Given the description of an element on the screen output the (x, y) to click on. 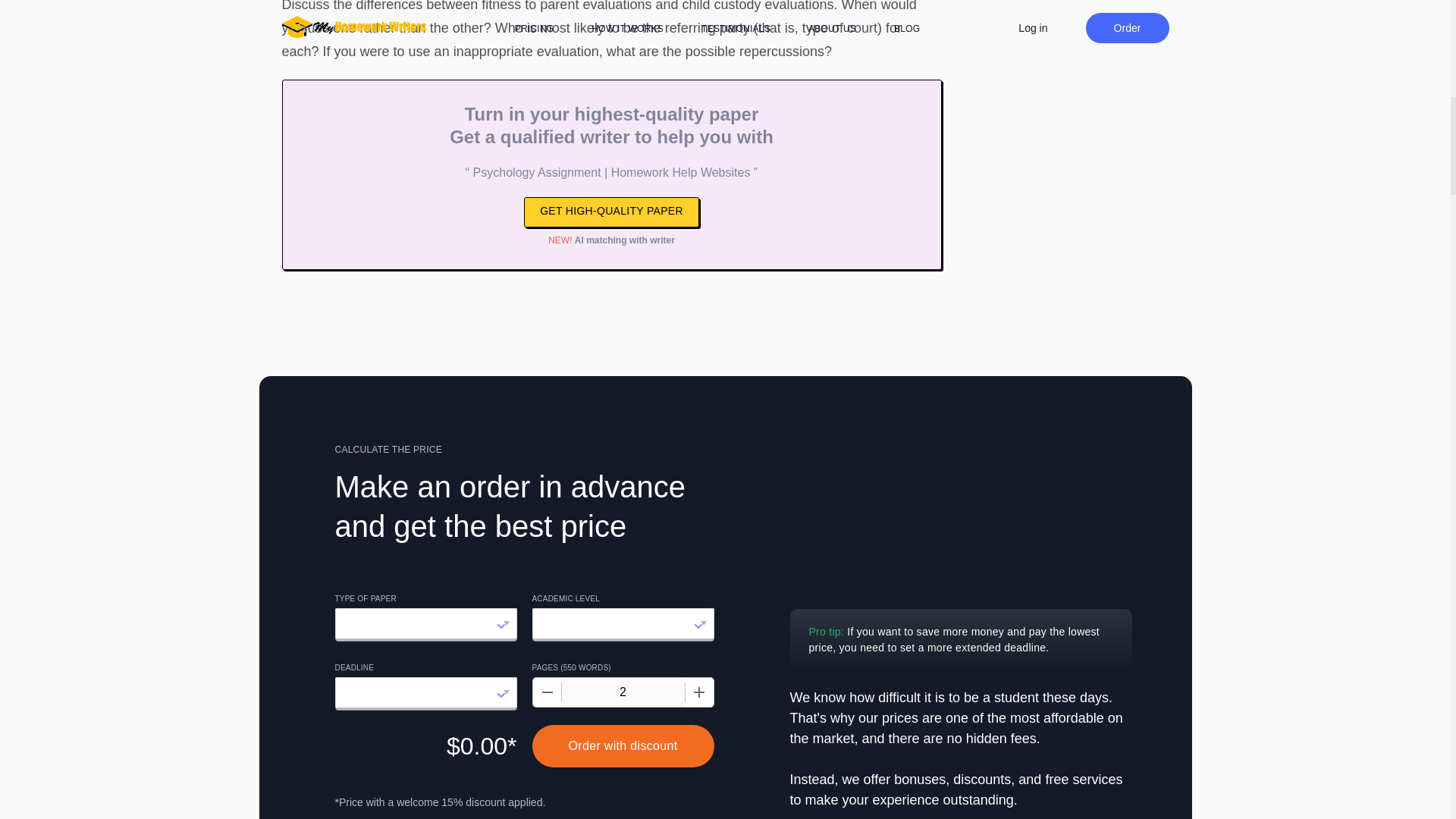
2 (622, 692)
Order with discount (623, 745)
Decrease (546, 692)
Increase (698, 692)
GET HIGH-QUALITY PAPER (611, 212)
